Given the description of an element on the screen output the (x, y) to click on. 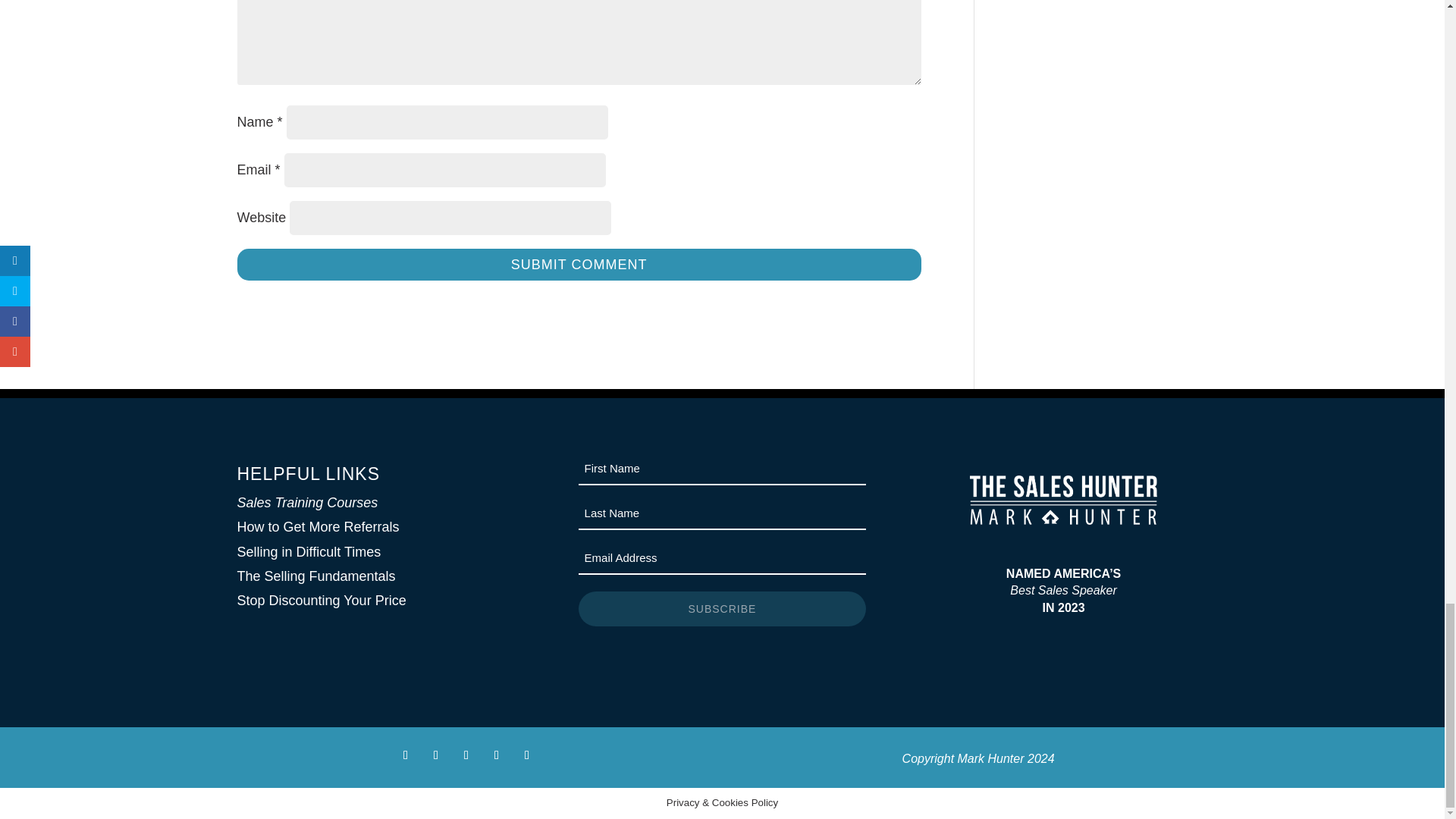
Follow on X (435, 754)
Submit Comment (577, 264)
SUBSCRIBE (722, 608)
Sales Training Courses (306, 502)
Selling in Difficult Times (307, 551)
Three Branch FigAsset 28 (1063, 499)
Submit Comment (577, 264)
Stop Discounting Your Price (320, 600)
How to Get More Referrals (316, 526)
The Selling Fundamentals (314, 575)
Follow on Facebook (405, 754)
Follow on Instagram (466, 754)
SUBSCRIBE (722, 608)
Follow on Youtube (526, 754)
Follow on LinkedIn (496, 754)
